Given the description of an element on the screen output the (x, y) to click on. 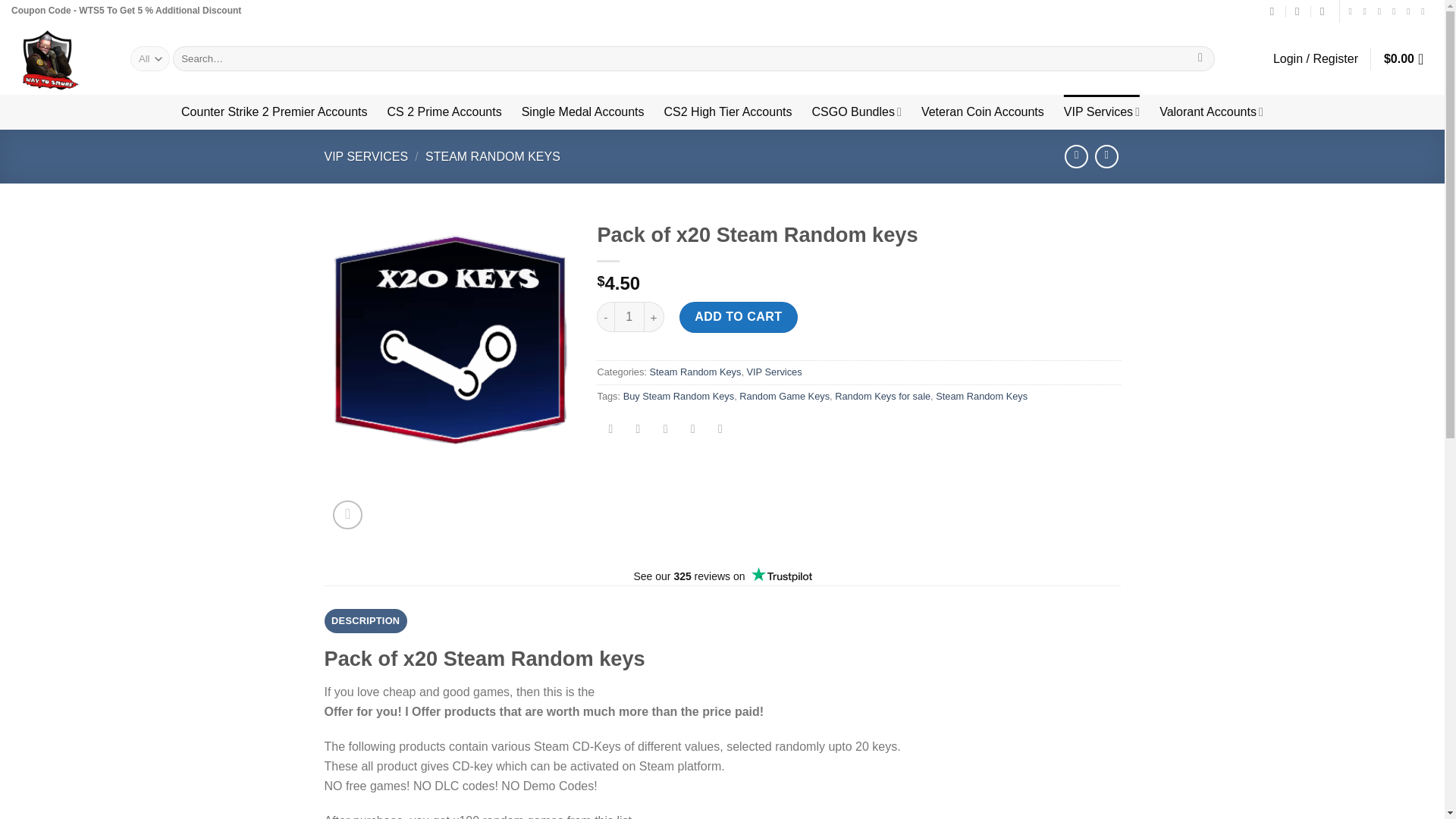
STEAM RANDOM KEYS (492, 155)
Veteran Coin Accounts (982, 112)
VIP SERVICES (366, 155)
CS2 High Tier Accounts (727, 112)
1 (629, 317)
CS 2 Prime Accounts (443, 112)
Counter Strike 2 Premier Accounts (273, 112)
Valorant Accounts (1210, 112)
Single Medal Accounts (583, 112)
CSGO Bundles (855, 112)
